Given the description of an element on the screen output the (x, y) to click on. 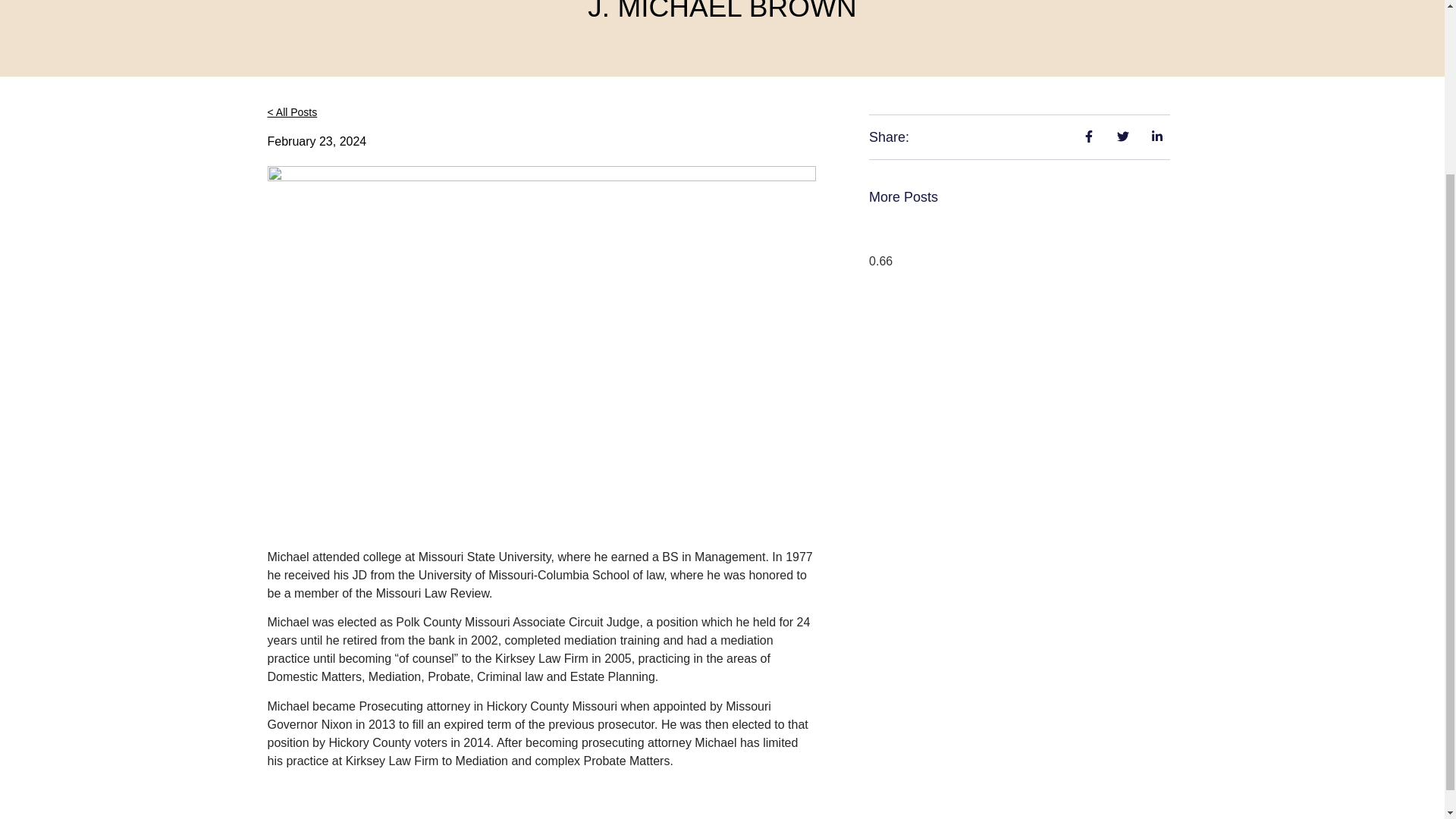
February 23, 2024 (316, 141)
